Given the description of an element on the screen output the (x, y) to click on. 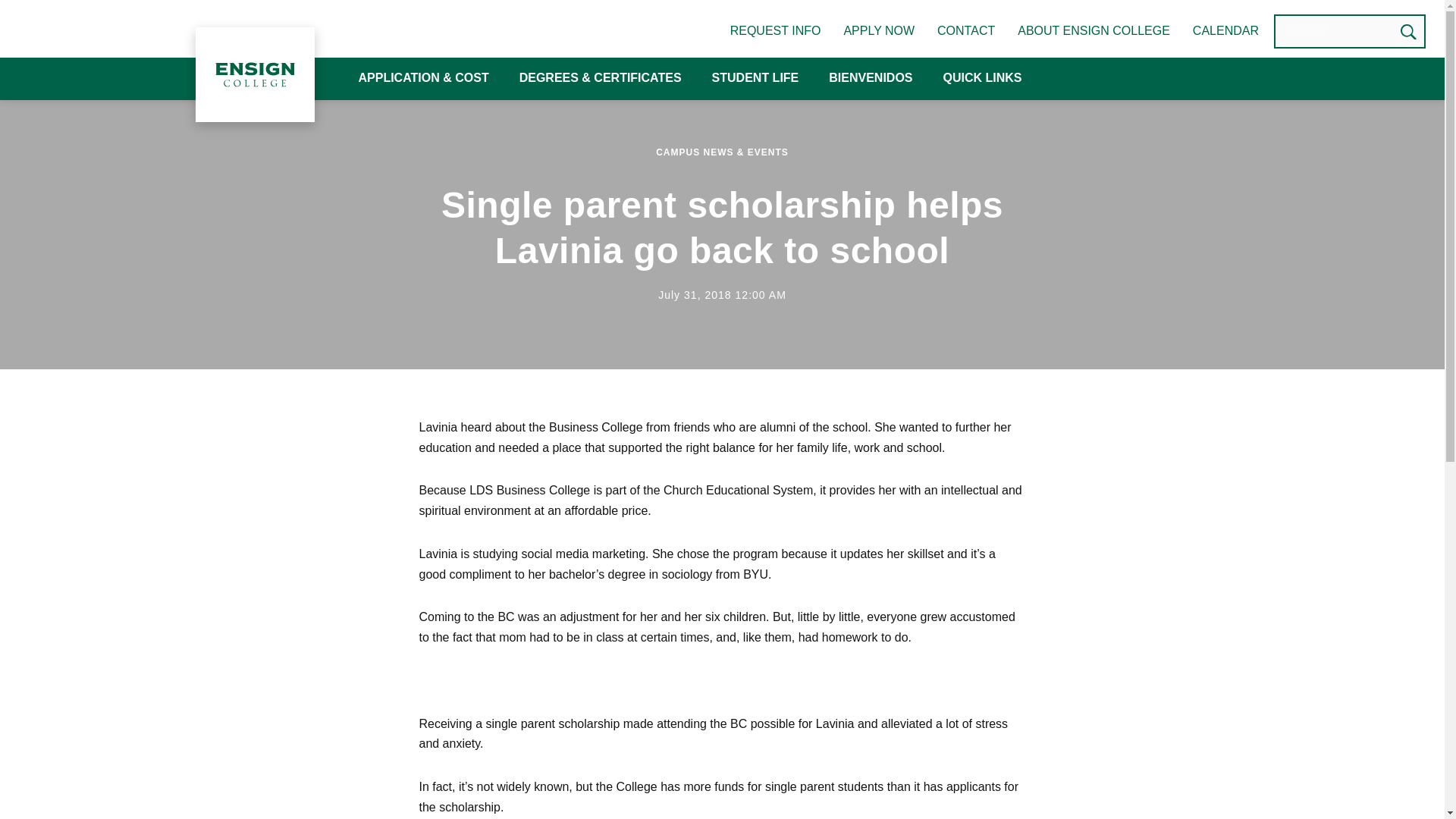
APPLY NOW (878, 30)
STUDENT LIFE (755, 78)
REQUEST INFO (775, 30)
ABOUT ENSIGN COLLEGE (1093, 30)
CALENDAR (1225, 30)
CONTACT (965, 30)
BIENVENIDOS (870, 78)
QUICK LINKS (982, 78)
Search (1408, 31)
